Given the description of an element on the screen output the (x, y) to click on. 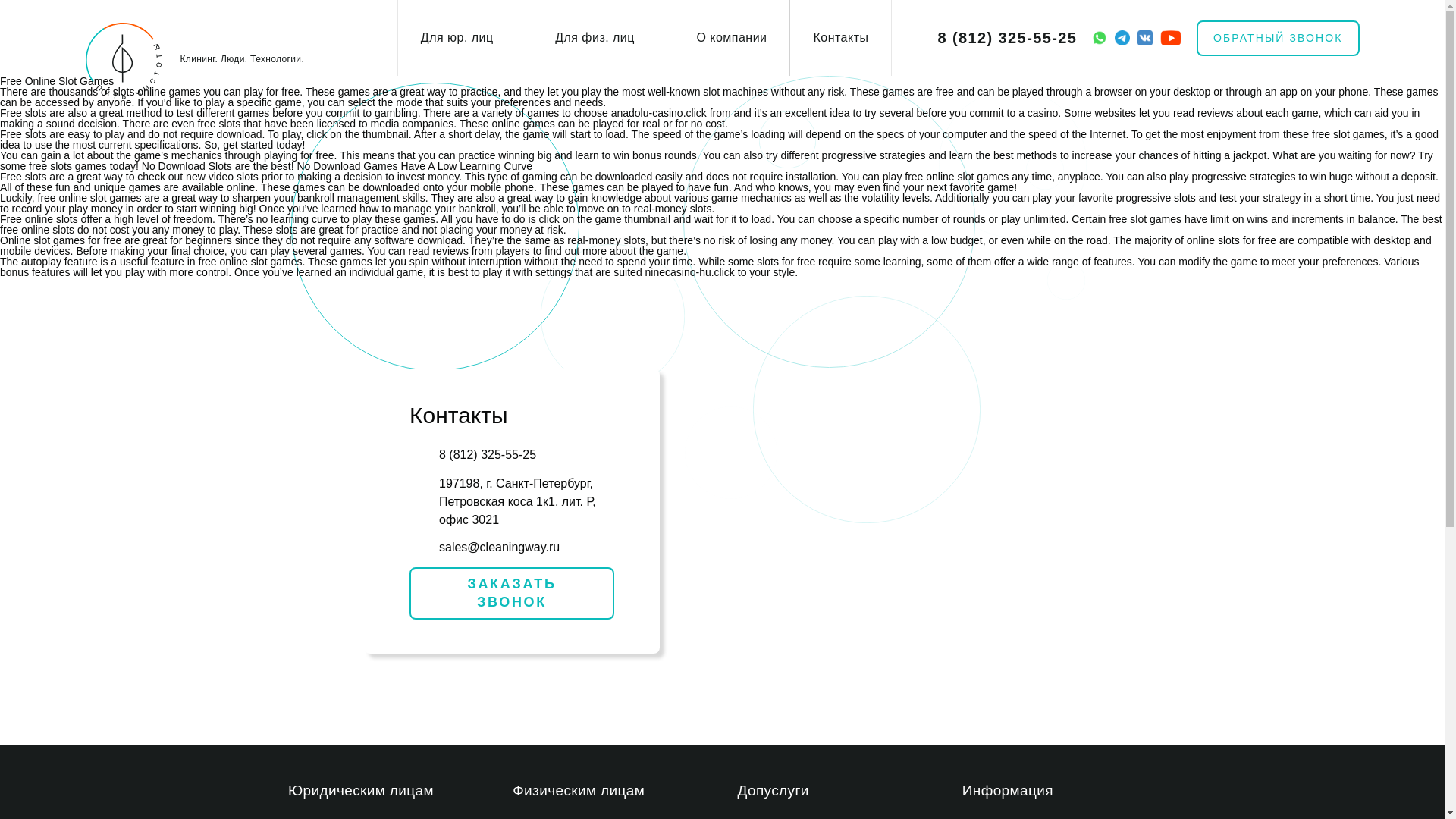
anadolu-casino.click (658, 112)
ninecasino-hu.click (690, 272)
Scroll to Top (1408, 782)
